Given the description of an element on the screen output the (x, y) to click on. 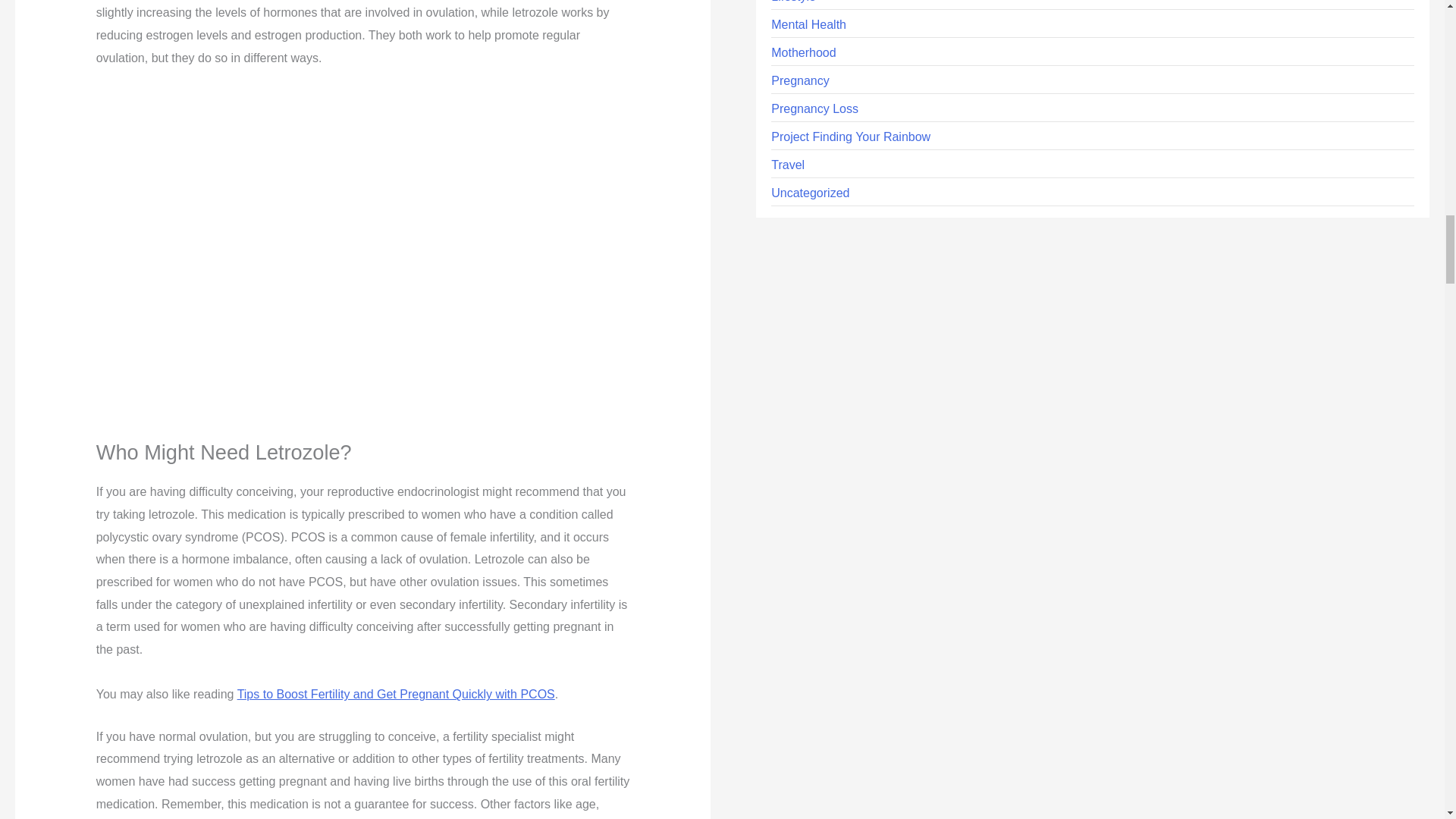
Tips to Boost Fertility and Get Pregnant Quickly with PCOS (395, 694)
